Given the description of an element on the screen output the (x, y) to click on. 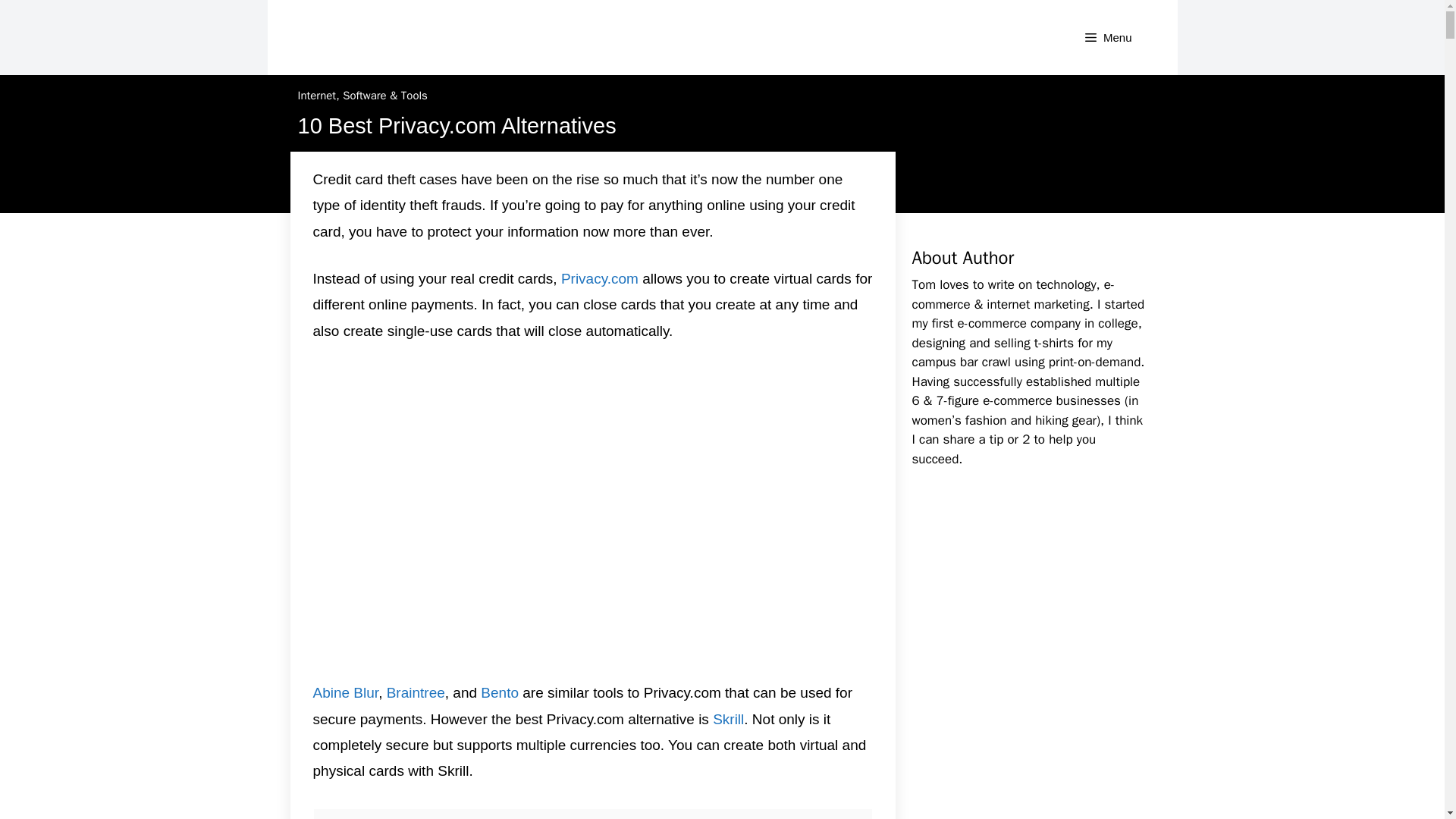
Braintree (416, 692)
Abine Blur (345, 692)
Menu (1108, 37)
Internet (316, 95)
Privacy.com (599, 278)
